Given the description of an element on the screen output the (x, y) to click on. 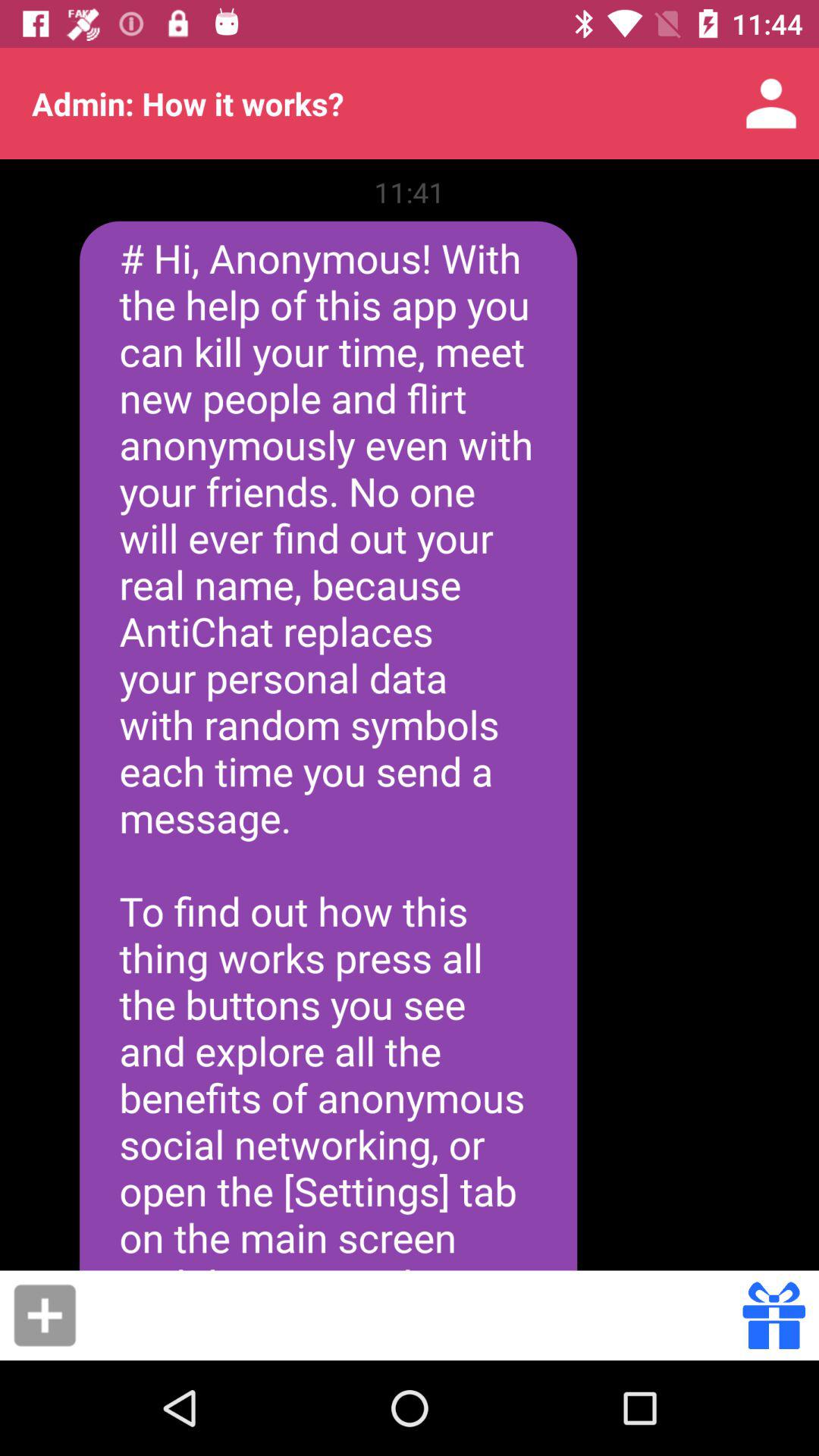
click the item at the top right corner (771, 103)
